Given the description of an element on the screen output the (x, y) to click on. 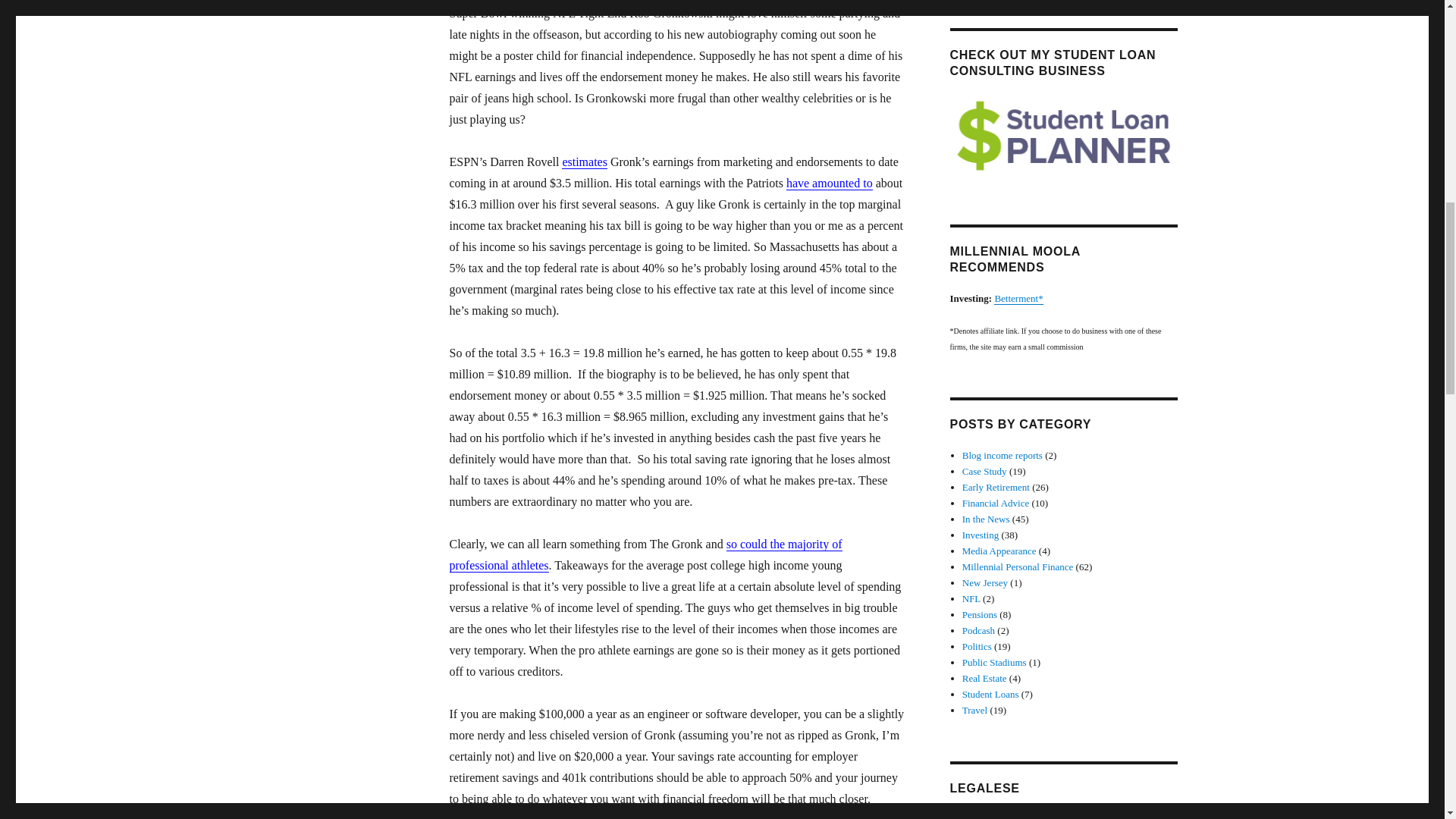
money tips for traveling around the world on a budget (974, 709)
Media Appearance (999, 550)
all about markets, stocks, bonds, and more (980, 534)
moola in the media (999, 550)
In the News (986, 518)
Investing (980, 534)
New Jersey (984, 582)
Case Study (984, 471)
Millennial Personal Finance (1018, 566)
